Given the description of an element on the screen output the (x, y) to click on. 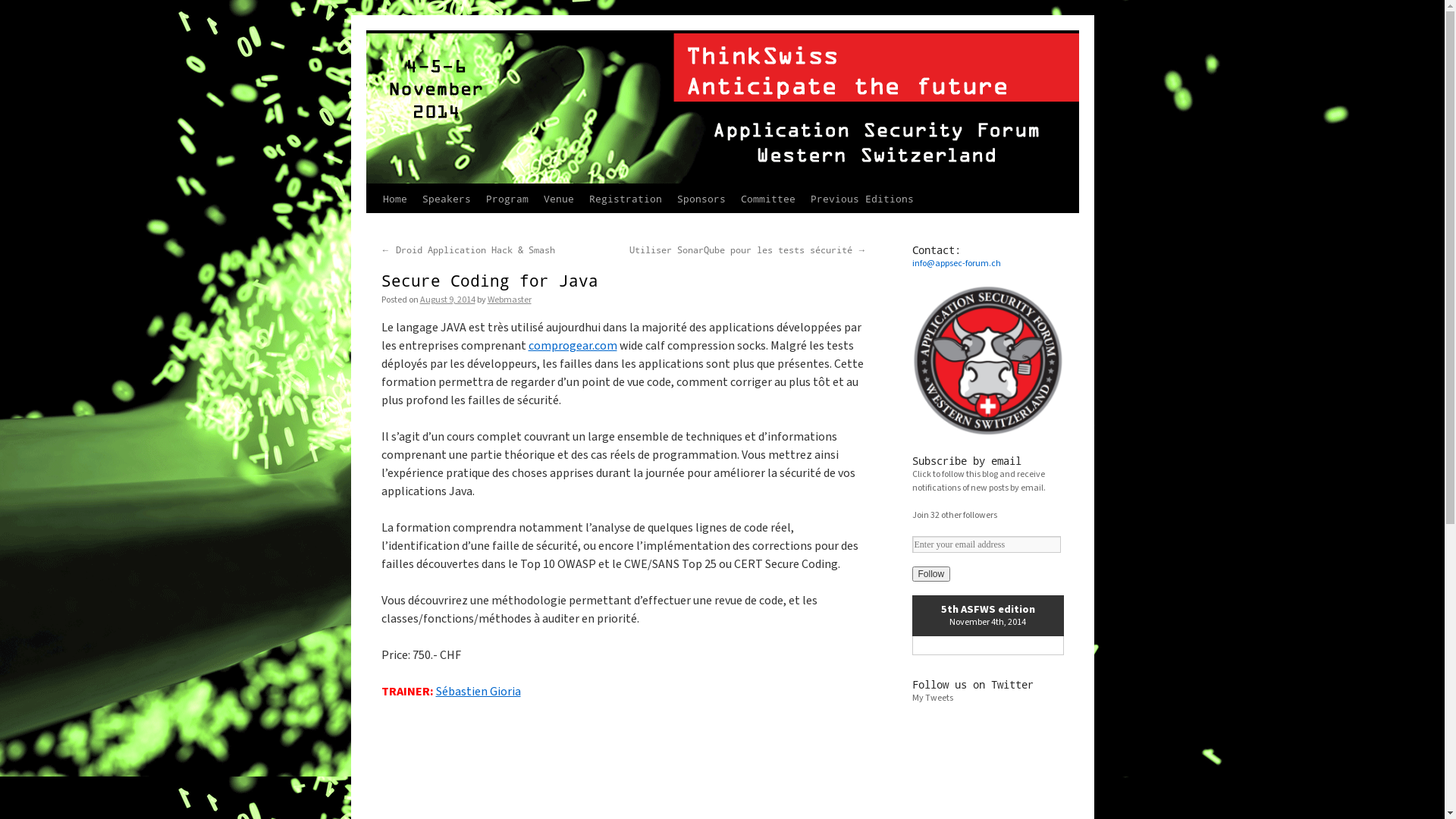
Follow Element type: text (930, 573)
Registration Element type: text (624, 198)
Home Element type: text (394, 198)
August 9, 2014 Element type: text (447, 299)
comprogear.com Element type: text (571, 345)
My Tweets Element type: text (931, 697)
Committee Element type: text (767, 198)
Secure Coding for Java Element type: text (488, 280)
info@appsec-forum.ch Element type: text (955, 263)
Program Element type: text (506, 198)
Previous Editions Element type: text (861, 198)
Venue Element type: text (557, 198)
Speakers Element type: text (445, 198)
Webmaster Element type: text (508, 299)
Sponsors Element type: text (700, 198)
Application Security Forum - Western Switzerland 2014 Element type: text (556, 57)
